Given the description of an element on the screen output the (x, y) to click on. 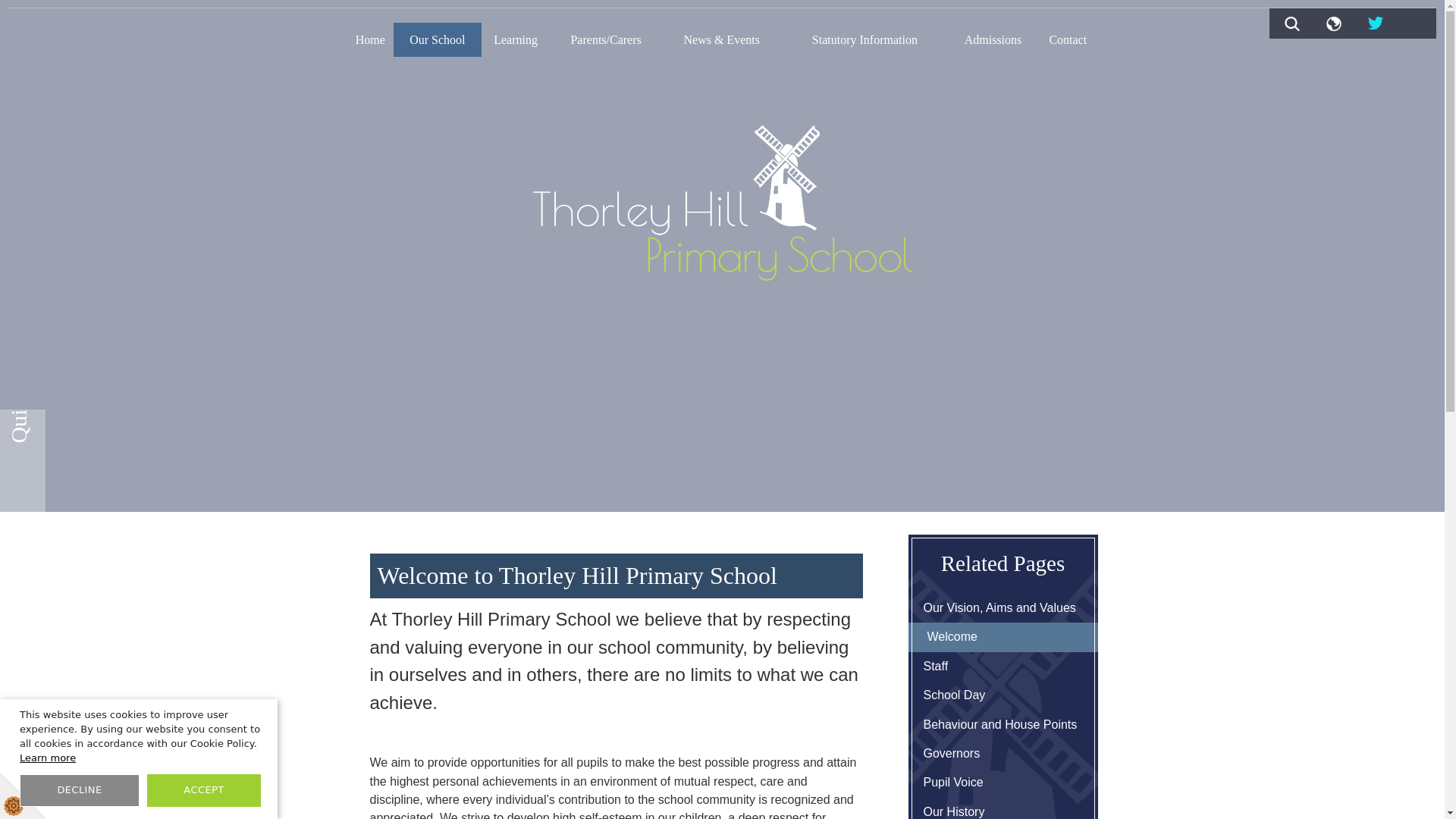
Search site (1292, 23)
Learning (515, 39)
Home (370, 39)
Our School (437, 39)
Search site (1292, 23)
